Given the description of an element on the screen output the (x, y) to click on. 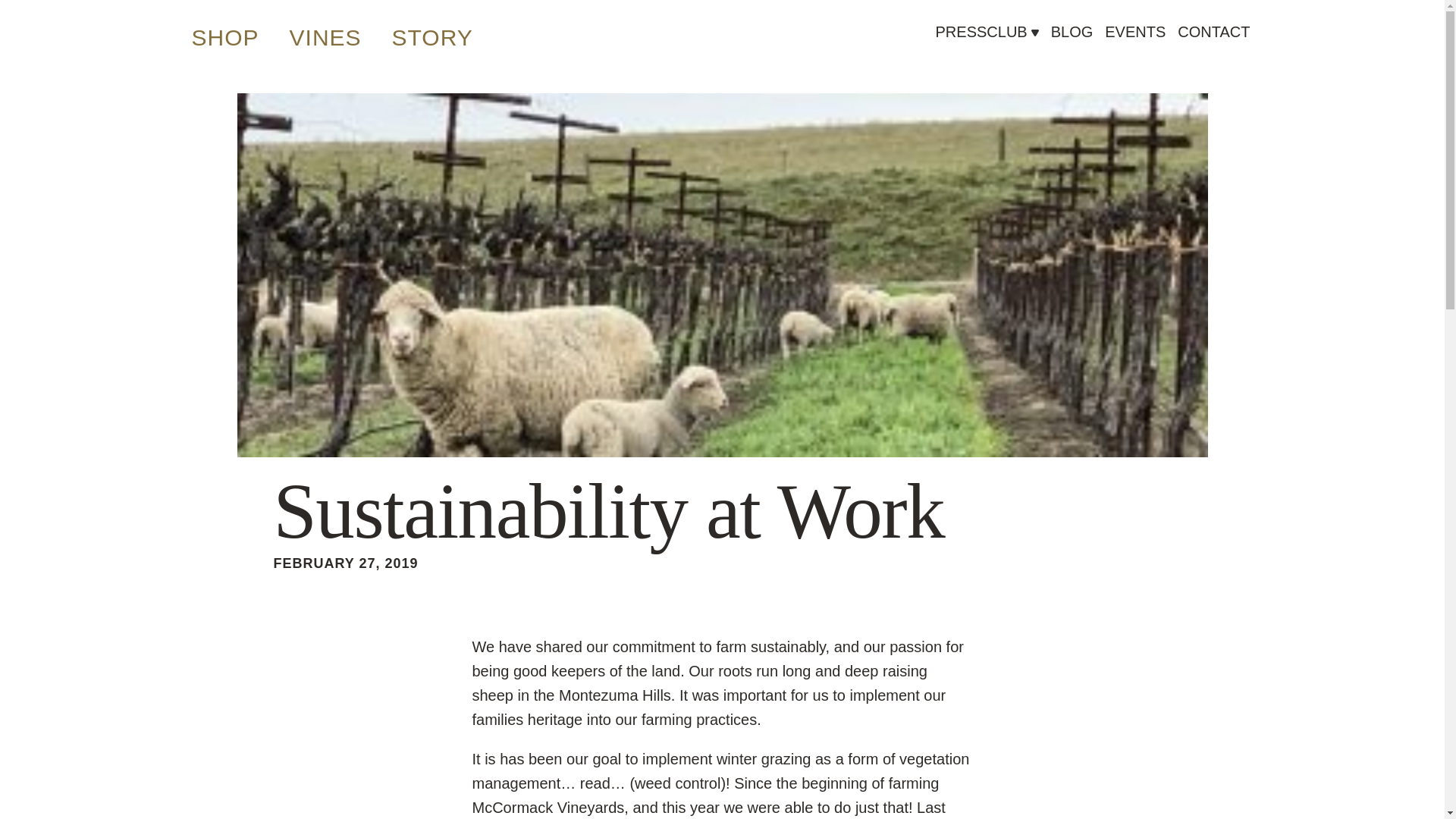
VINES (325, 37)
CONTACT (1213, 31)
Pressley Vineyards (657, 79)
SHOP (224, 37)
PRESSCLUB (981, 43)
BLOG (1072, 31)
STORY (432, 37)
EVENTS (1135, 31)
